Given the description of an element on the screen output the (x, y) to click on. 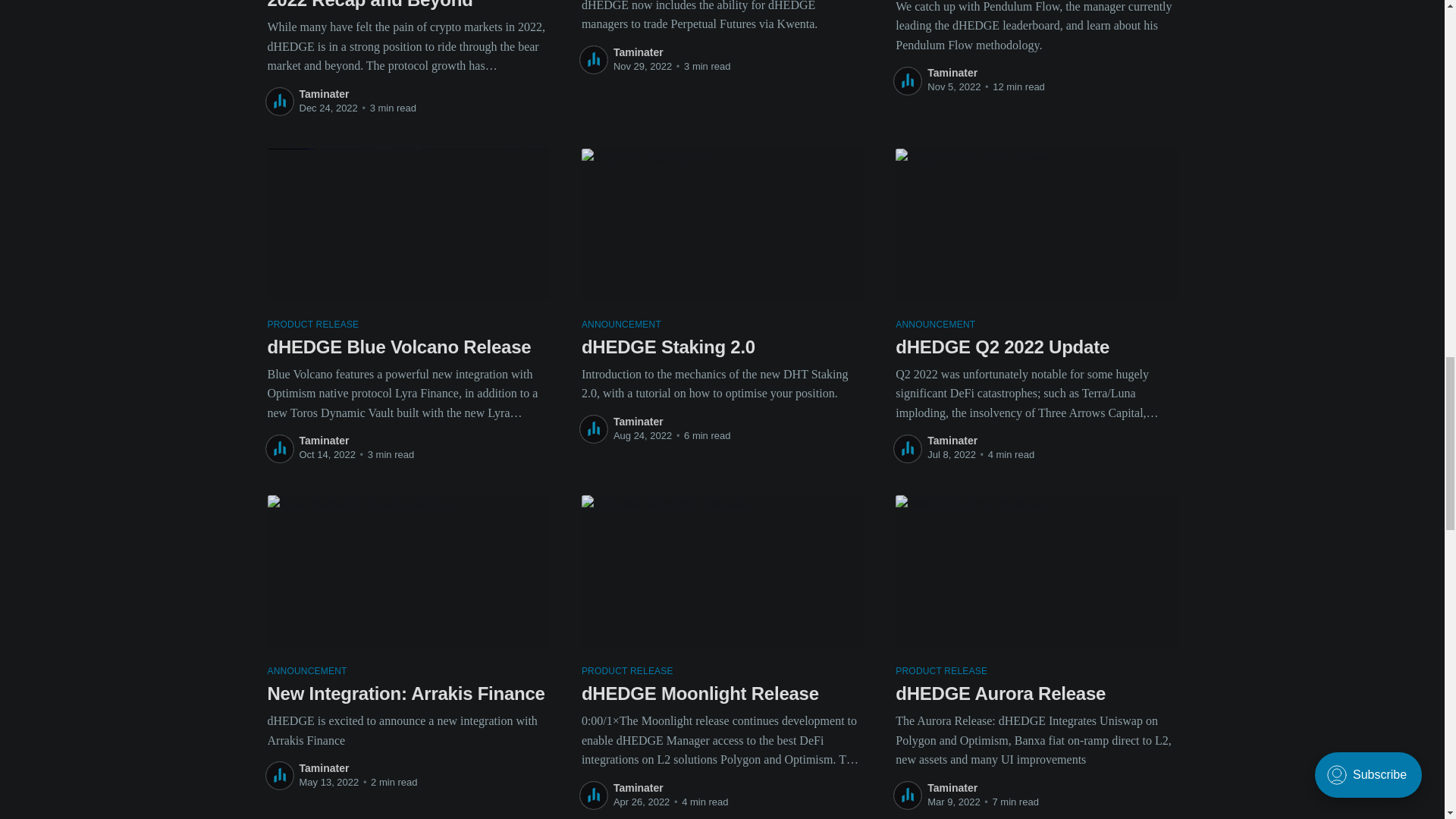
Taminater (323, 93)
